Given the description of an element on the screen output the (x, y) to click on. 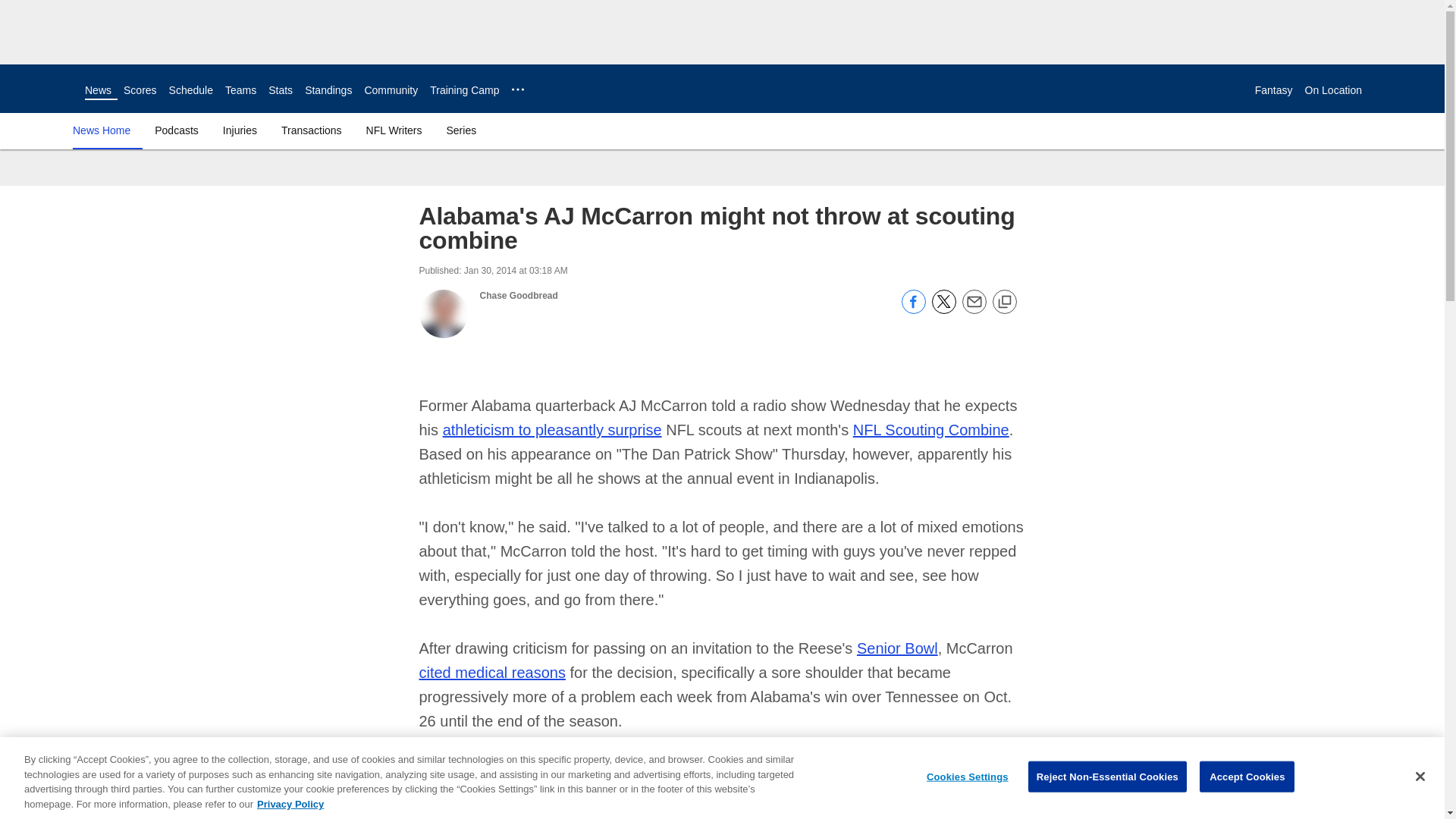
Schedule (190, 90)
Teams (240, 90)
Scores (140, 90)
Link to NFL homepage (42, 88)
News (98, 90)
Schedule (190, 90)
Teams (240, 90)
Scores (140, 90)
Stats (279, 90)
News (98, 90)
